Given the description of an element on the screen output the (x, y) to click on. 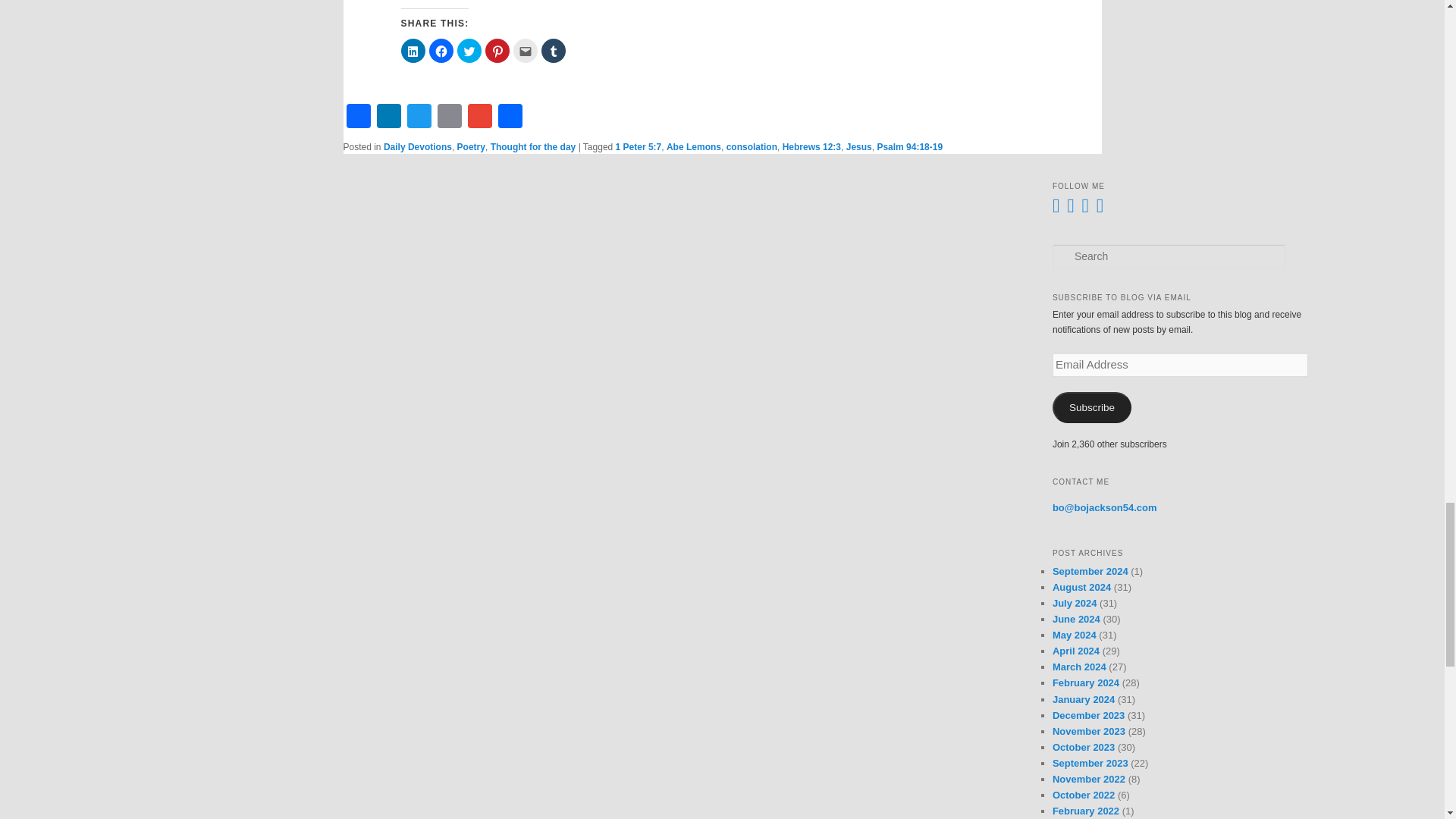
Twitter (418, 115)
Thought for the day (533, 146)
Click to share on Pinterest (496, 50)
LinkedIn (387, 115)
Email (448, 115)
Daily Devotions (417, 146)
Click to share on Tumblr (553, 50)
Subscribe (1091, 407)
Facebook (357, 115)
September 2024 (1090, 571)
